Given the description of an element on the screen output the (x, y) to click on. 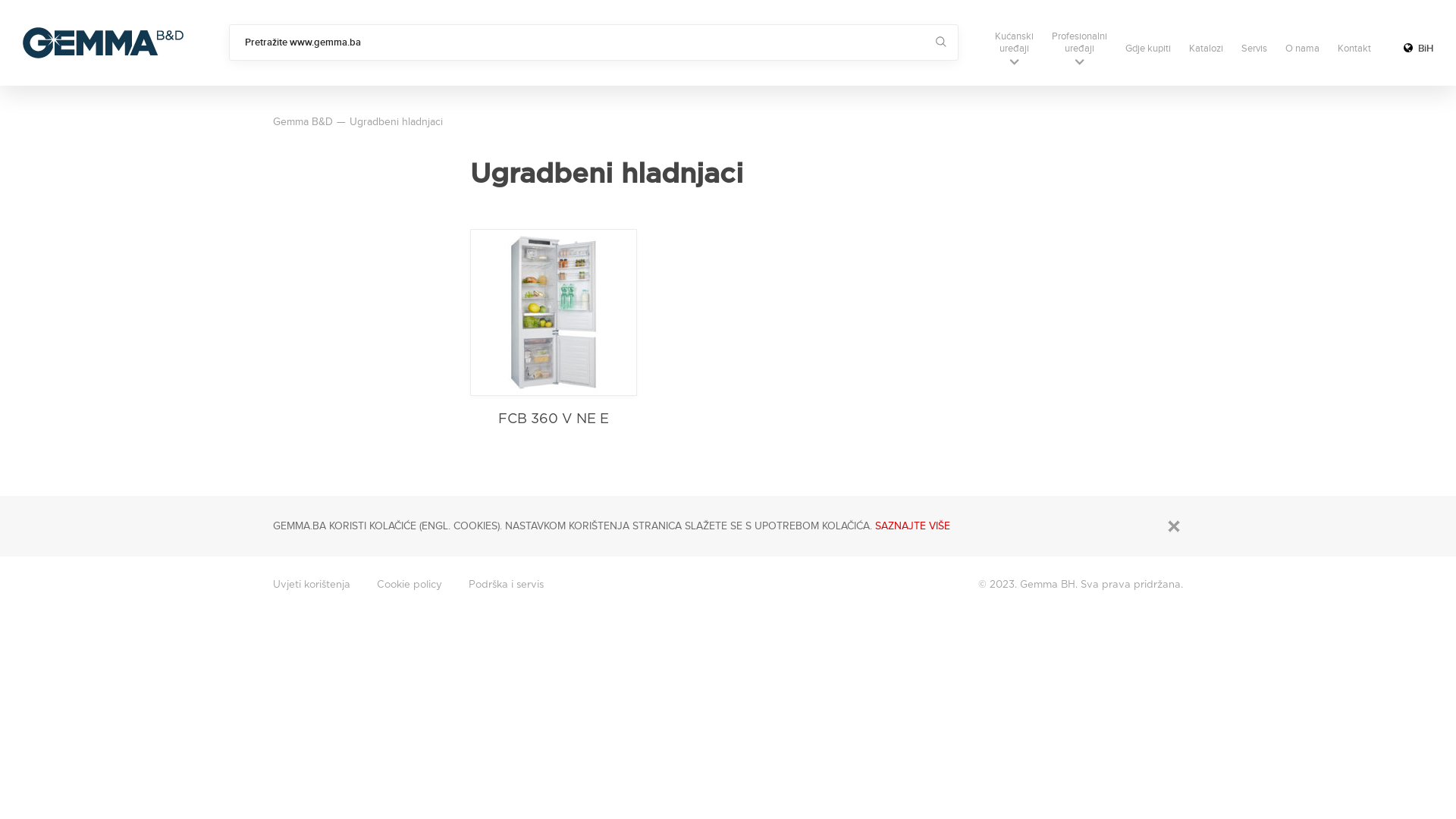
Gemma B&D Element type: text (102, 41)
Katalozi Element type: text (1205, 48)
Servis Element type: text (1254, 48)
Gemma B&D Element type: text (302, 122)
Gdje kupiti Element type: text (1147, 48)
Kontakt Element type: text (1354, 48)
O nama Element type: text (1302, 48)
ZATVORITI Element type: text (1173, 526)
FCB 360 V NE E Element type: text (553, 328)
BiH Element type: text (1417, 48)
Cookie policy Element type: text (409, 584)
